Given the description of an element on the screen output the (x, y) to click on. 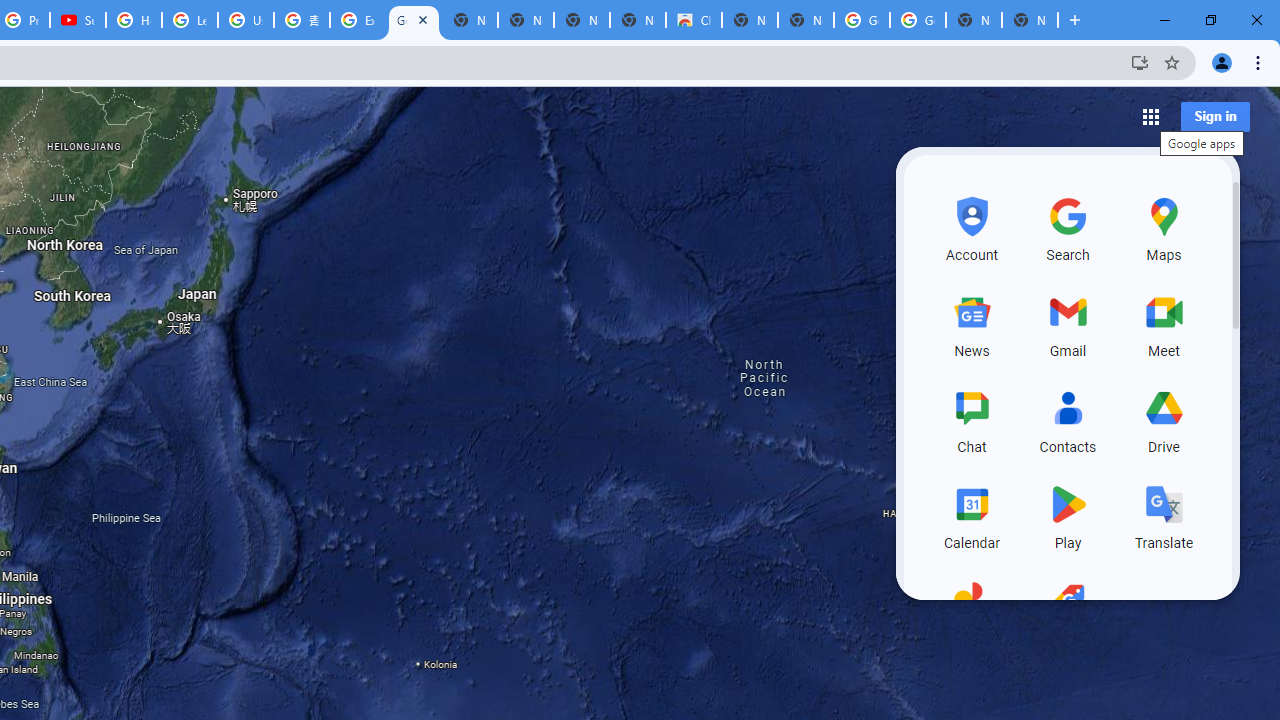
Google Maps (413, 20)
Google Images (917, 20)
Google apps (1150, 115)
Install Google Maps (1139, 62)
